Given the description of an element on the screen output the (x, y) to click on. 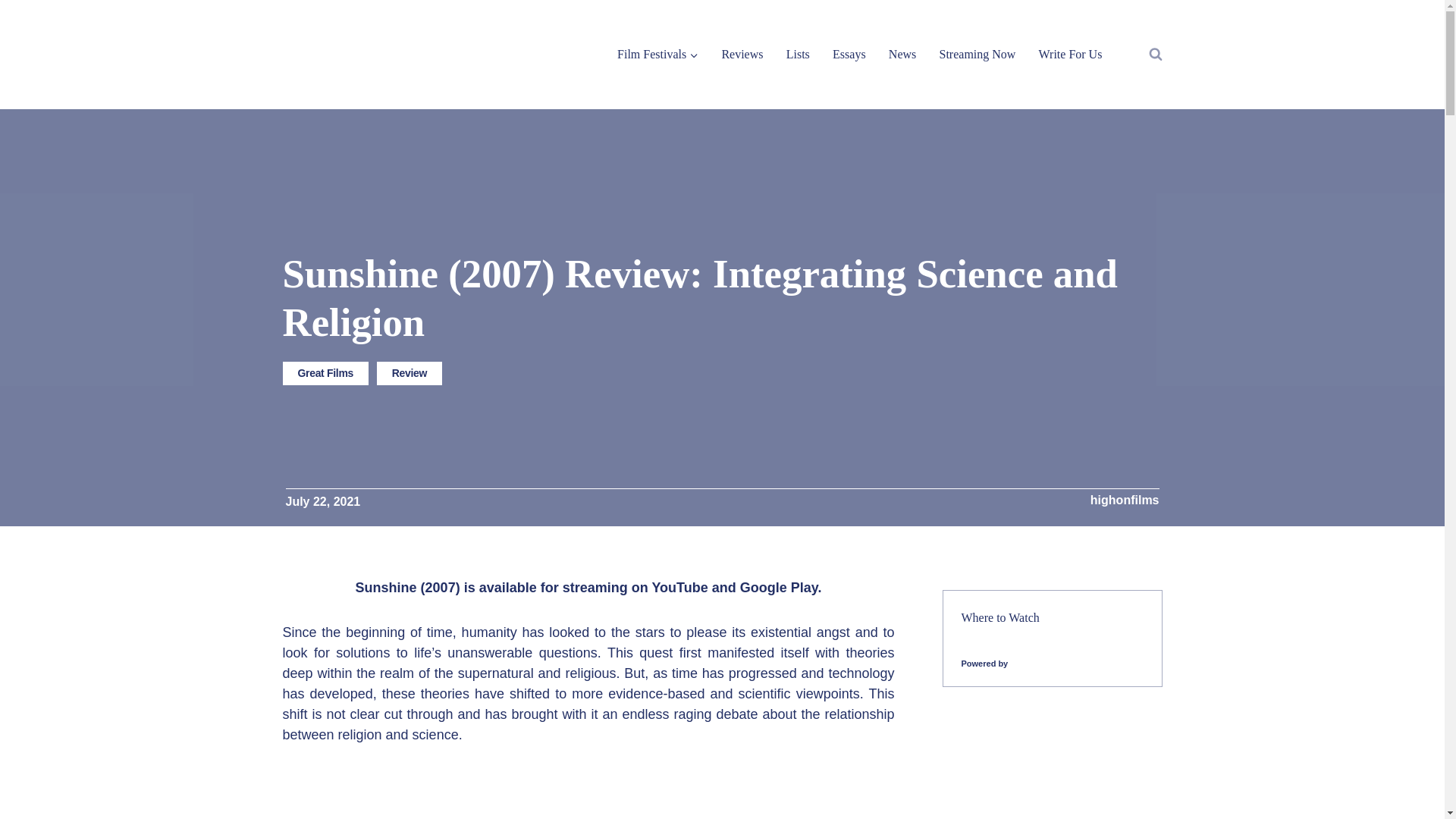
Reviews (742, 53)
Film Festivals (657, 53)
News (902, 53)
Review (409, 372)
Lists (797, 53)
highonfilms (1124, 499)
Great Films (325, 372)
Essays (849, 53)
Streaming Now (976, 53)
Write For Us (1069, 53)
